Given the description of an element on the screen output the (x, y) to click on. 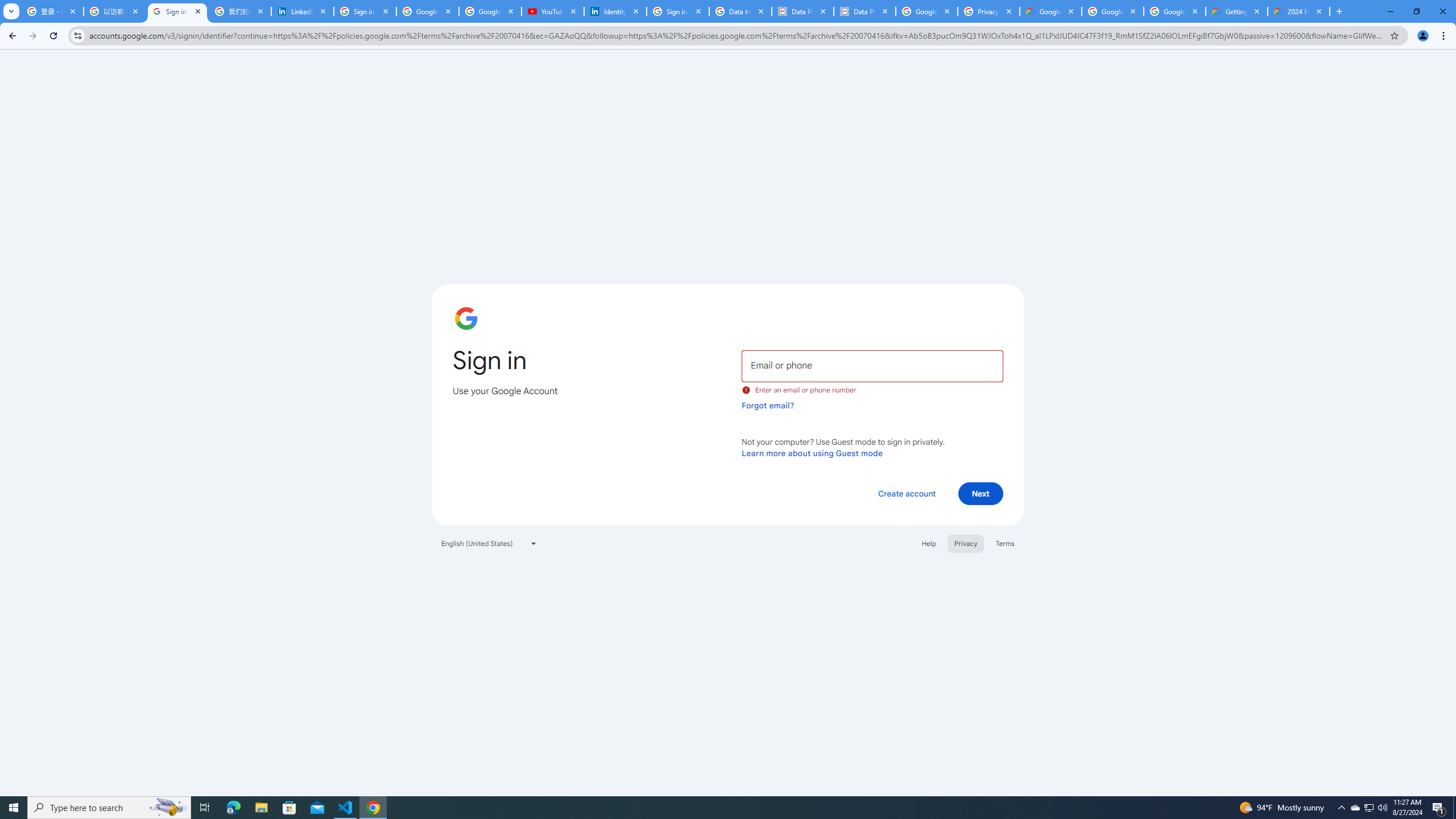
Sign in - Google Accounts (678, 11)
Data Privacy Framework (802, 11)
